Given the description of an element on the screen output the (x, y) to click on. 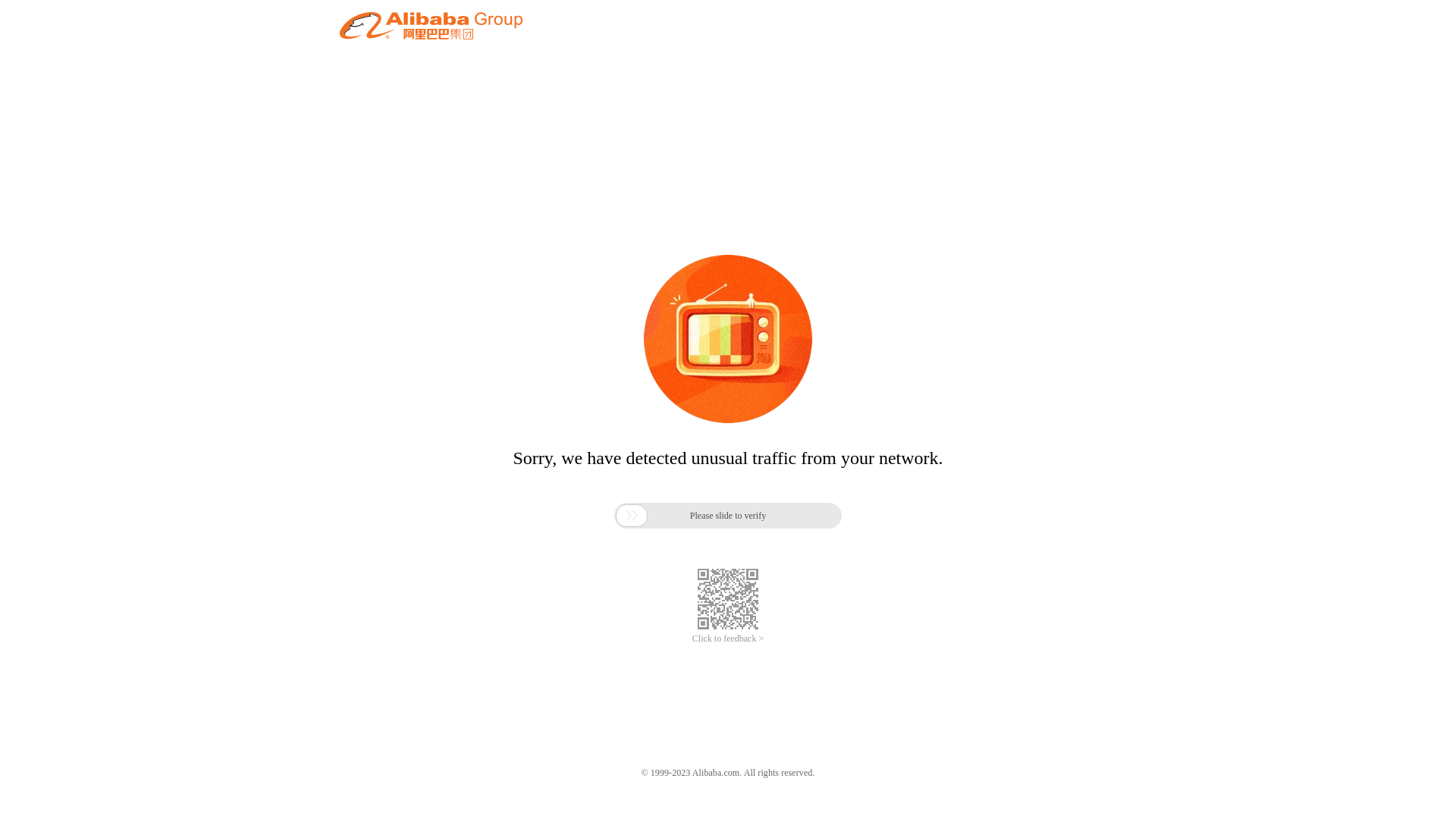
Click to feedback > Element type: text (727, 638)
